Given the description of an element on the screen output the (x, y) to click on. 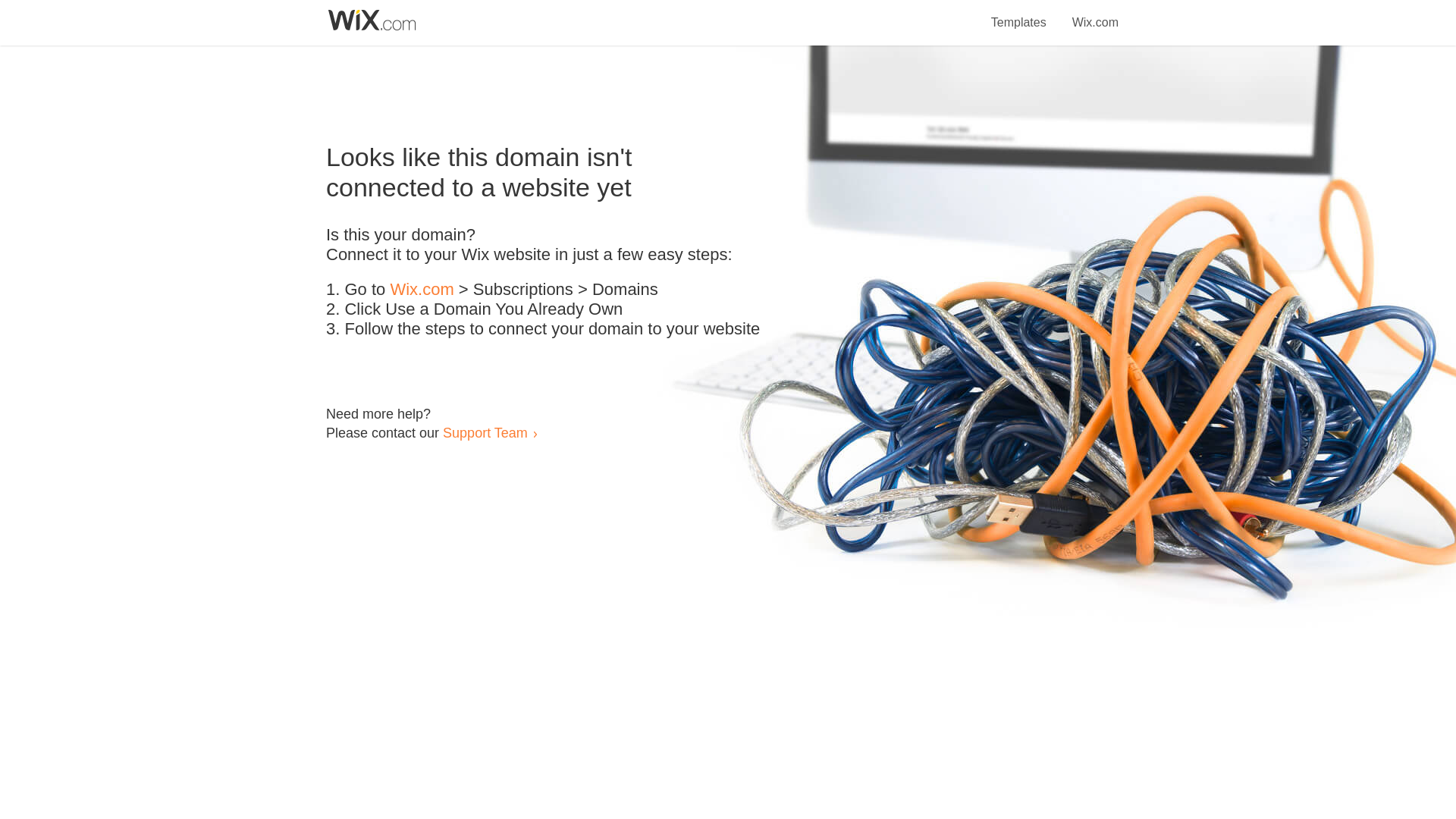
Wix.com (421, 289)
Templates (1018, 14)
Support Team (484, 432)
Wix.com (1095, 14)
